Given the description of an element on the screen output the (x, y) to click on. 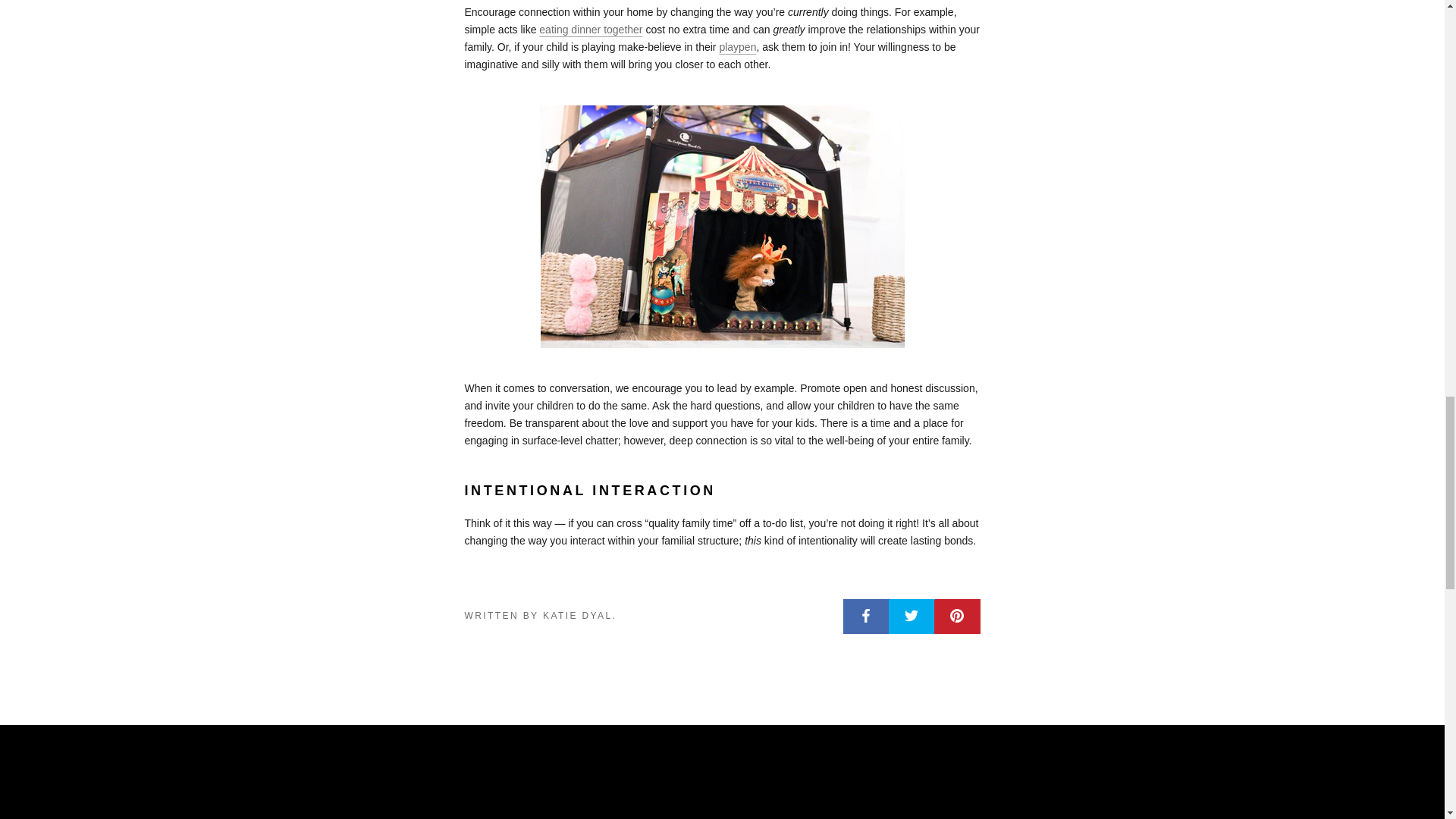
eating dinner together (590, 29)
playpen (737, 46)
